Given the description of an element on the screen output the (x, y) to click on. 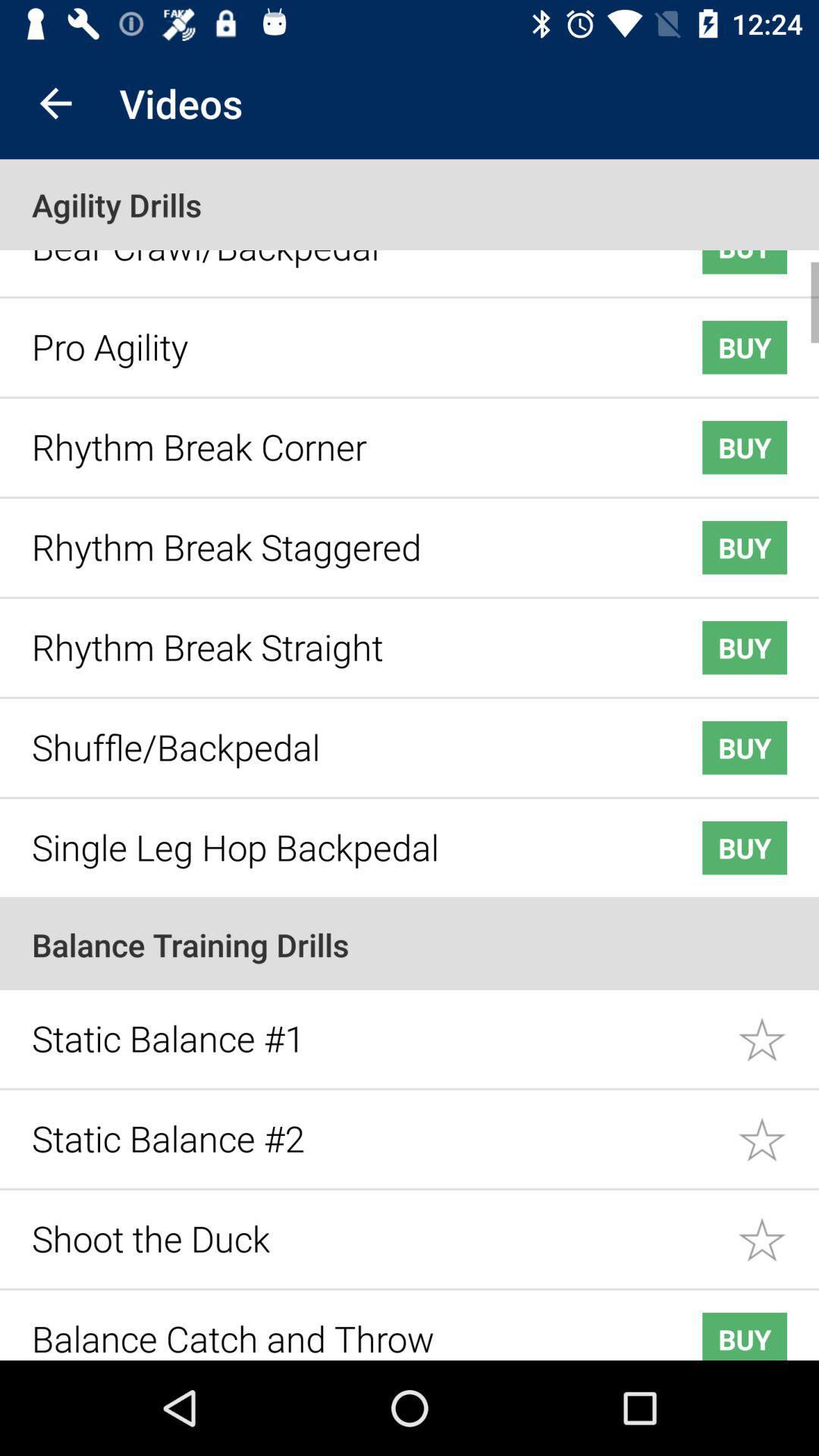
turn off the item below agility drills icon (342, 254)
